Given the description of an element on the screen output the (x, y) to click on. 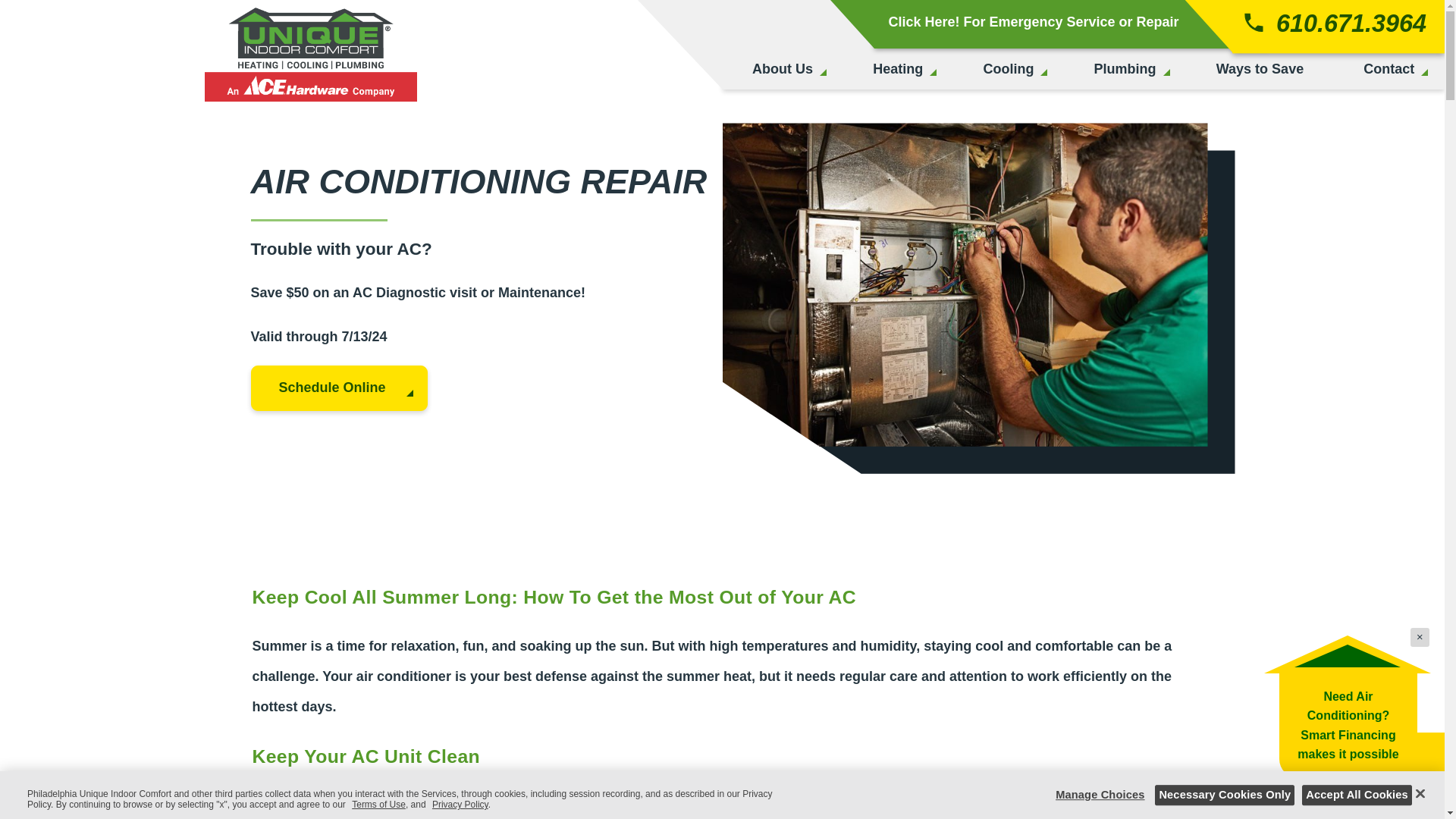
Ways to Save (1259, 68)
Heating (897, 68)
About Us (782, 68)
Contact (1388, 68)
Plumbing (1125, 68)
Click Here! For Emergency Service or Repair (1070, 22)
Cooling (1007, 68)
Schedule Online (338, 388)
